Given the description of an element on the screen output the (x, y) to click on. 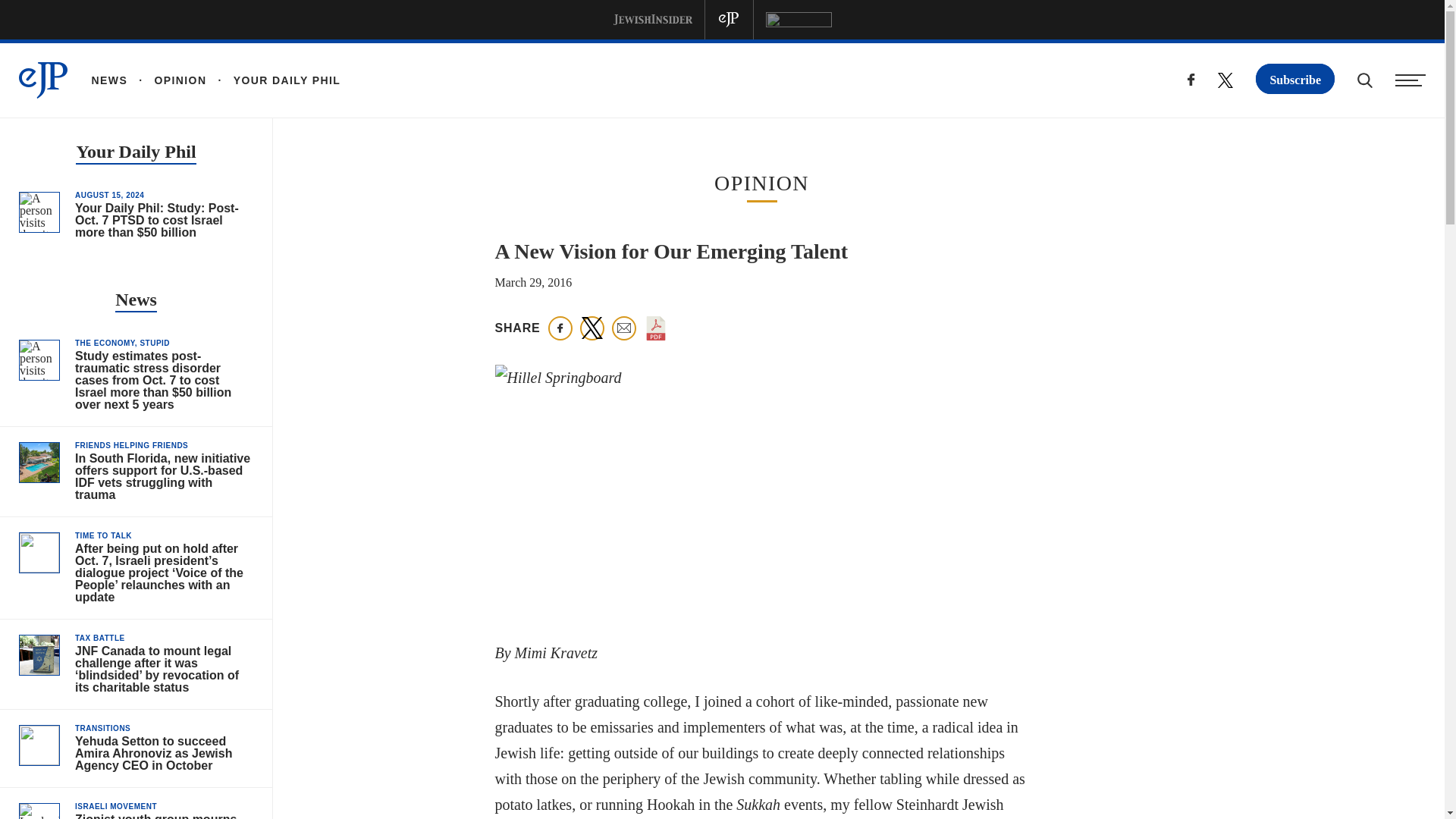
Your Daily Phil (135, 153)
OPINION (167, 80)
YOUR DAILY PHIL (273, 80)
News (136, 301)
Subscribe (1295, 78)
NEWS (109, 80)
